Given the description of an element on the screen output the (x, y) to click on. 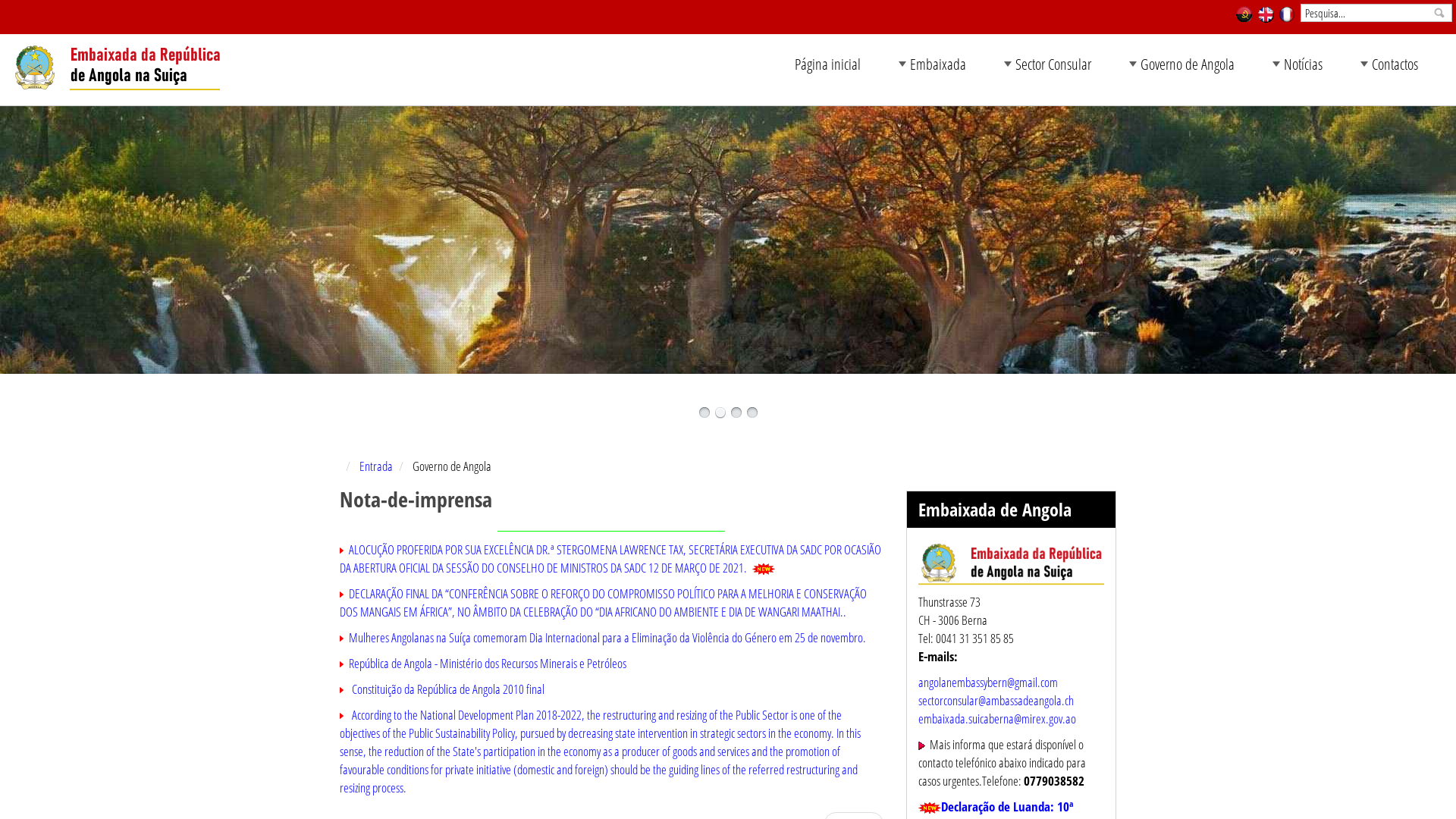
sectorconsular@ambassadeangola.ch Element type: text (995, 700)
Pesquisa Element type: text (1439, 12)
Entrada Element type: text (375, 465)
embaixada.suicaberna@mirex.gov.ao Element type: text (997, 718)
angolanembassybern@gmail.com Element type: text (987, 681)
